Given the description of an element on the screen output the (x, y) to click on. 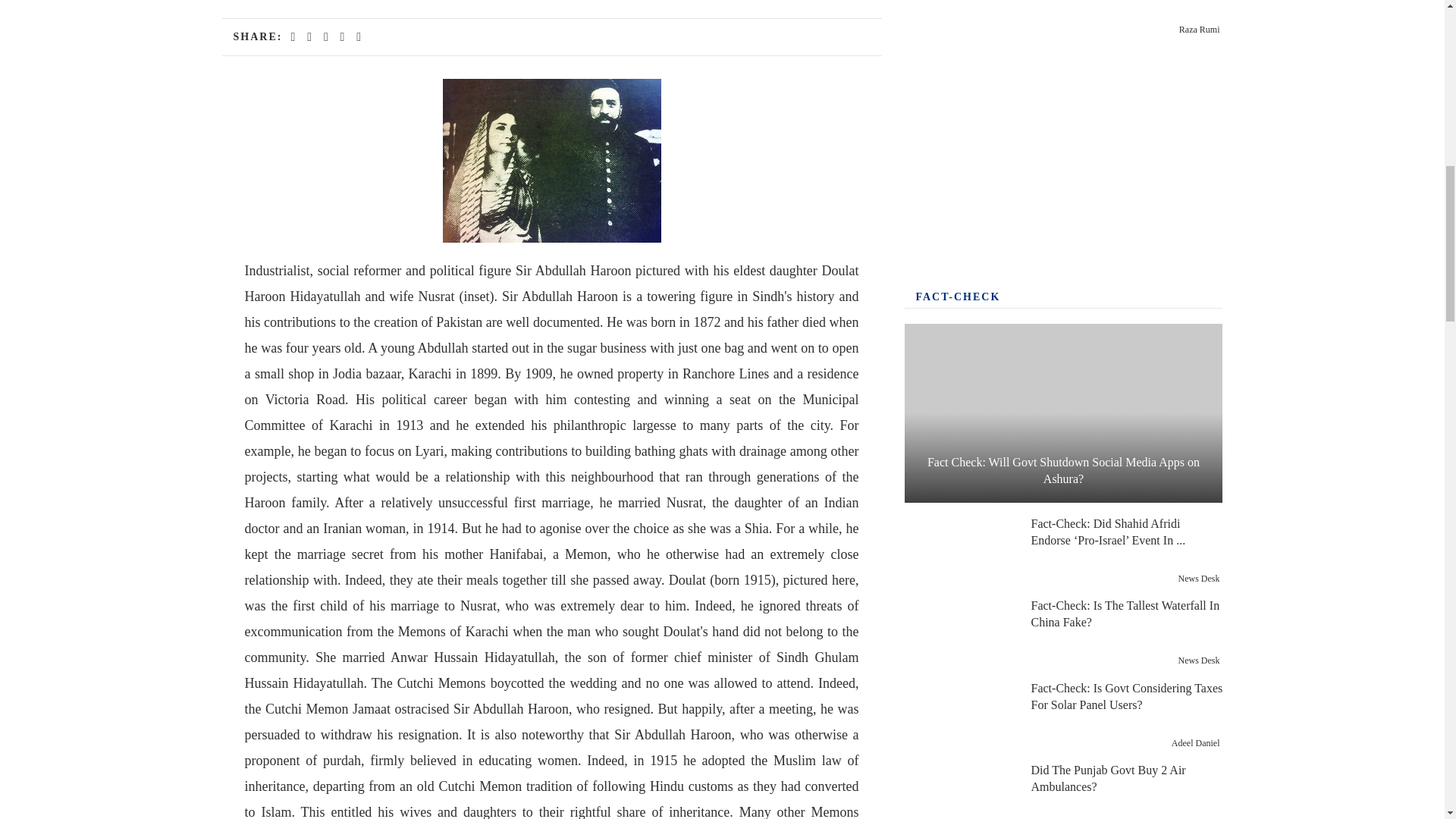
A Coup That Failed (959, 18)
Fact-Check: Is The Tallest Waterfall In China Fake? (959, 632)
Fact-Check: Is Govt Considering Taxes For Solar Panel Users? (959, 715)
Fact Check: Will Govt Shutdown Social Media Apps on Ashura? (1063, 412)
Did The Punjab Govt Buy 2 Air Ambulances? (959, 791)
